Given the description of an element on the screen output the (x, y) to click on. 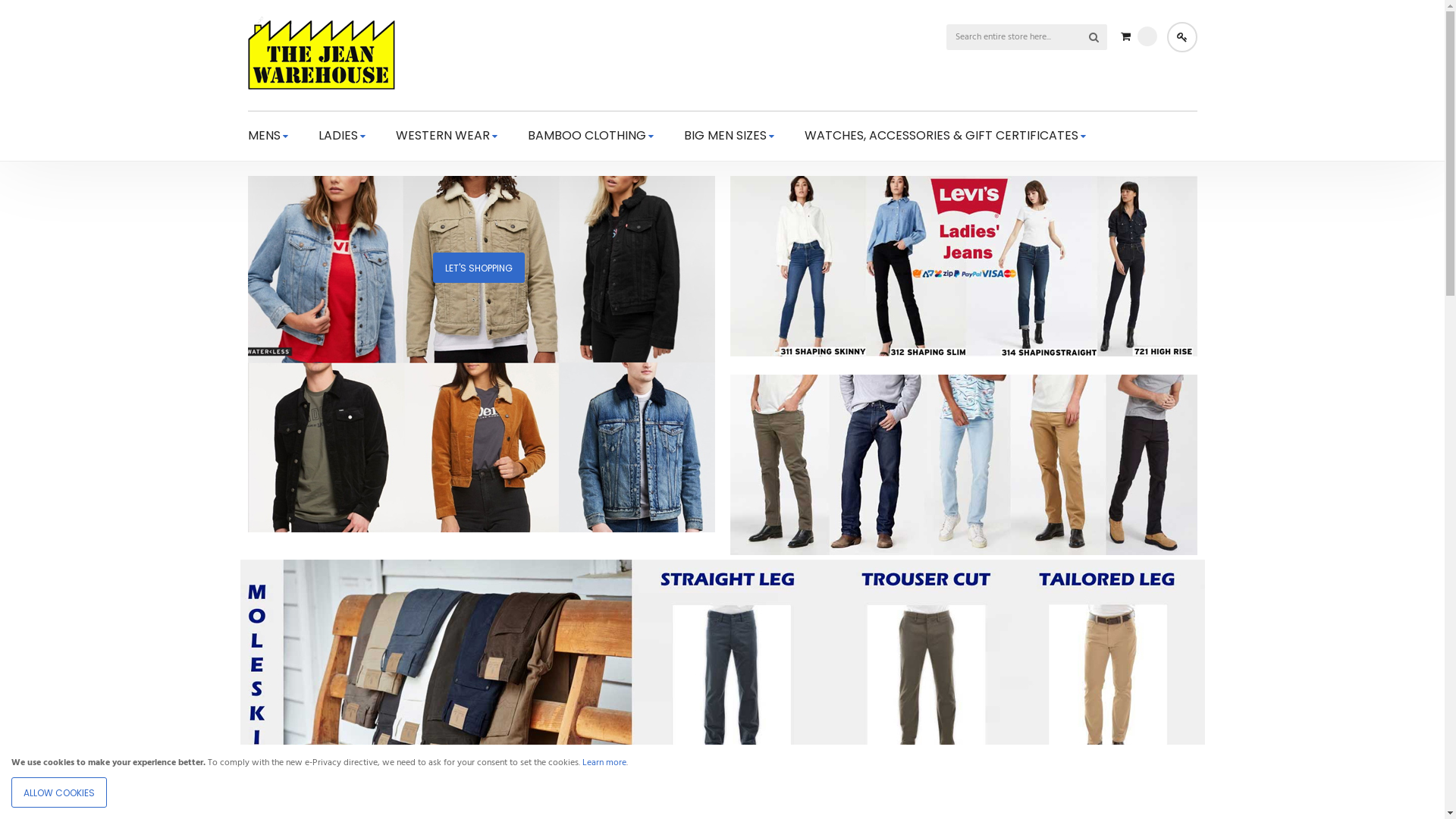
Learn more Element type: text (604, 762)
WESTERN WEAR Element type: text (446, 135)
MENS Element type: text (267, 135)
ALLOW COOKIES Element type: text (58, 792)
THE JEAN WAREHOUSE Element type: hover (320, 55)
LADIES Element type: text (341, 135)
Text Banner Element type: hover (962, 353)
Search Element type: hover (1094, 37)
BIG MEN SIZES Element type: text (729, 135)
Text Banner Element type: hover (721, 807)
Sign In Element type: text (1181, 36)
LET'S SHOPPING Element type: text (480, 529)
BAMBOO CLOTHING Element type: text (590, 135)
Text Banner Element type: hover (962, 552)
WATCHES, ACCESSORIES & GIFT CERTIFICATES Element type: text (944, 135)
THE JEAN WAREHOUSE Element type: hover (320, 52)
